Given the description of an element on the screen output the (x, y) to click on. 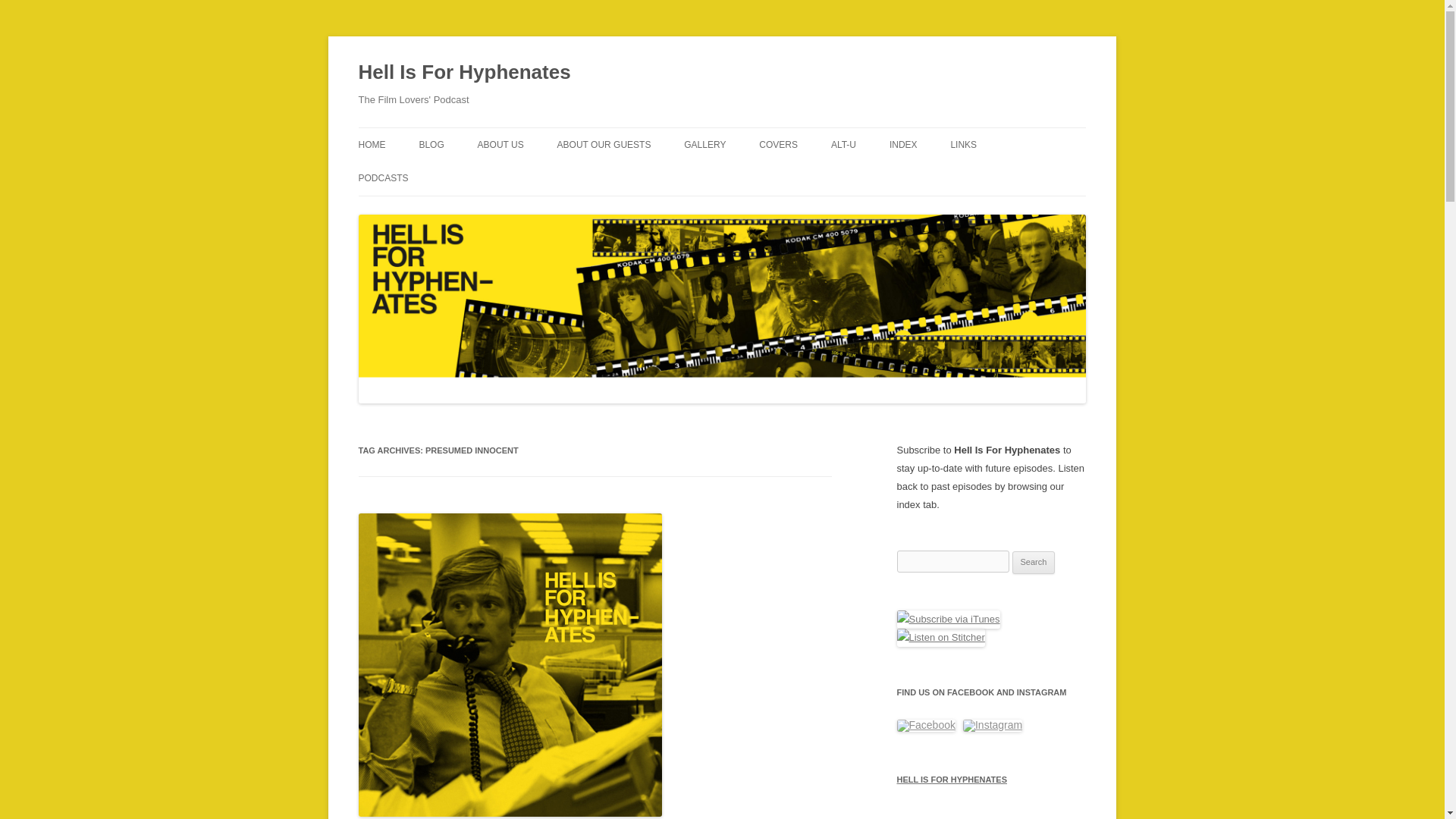
Like us on Facebook (925, 725)
Hell Is For Hyphenates (464, 72)
Search (1033, 562)
GALLERY (704, 144)
Find us on Instagram (992, 725)
PODCASTS (382, 177)
COVERS (777, 144)
ABOUT OUR GUESTS (603, 144)
ABOUT US (500, 144)
